Given the description of an element on the screen output the (x, y) to click on. 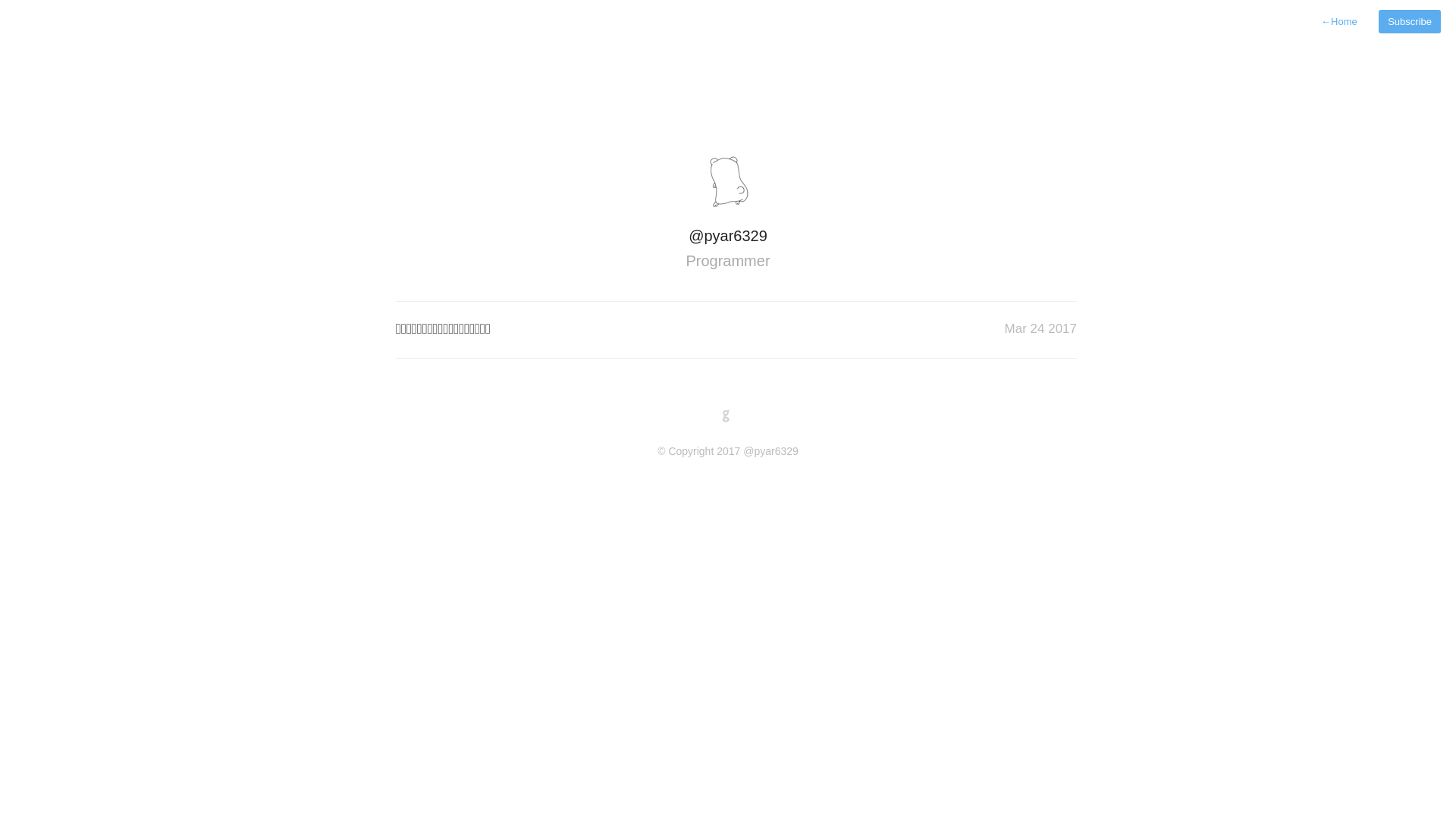
github Element type: text (725, 416)
Subscribe Element type: text (1409, 21)
